Given the description of an element on the screen output the (x, y) to click on. 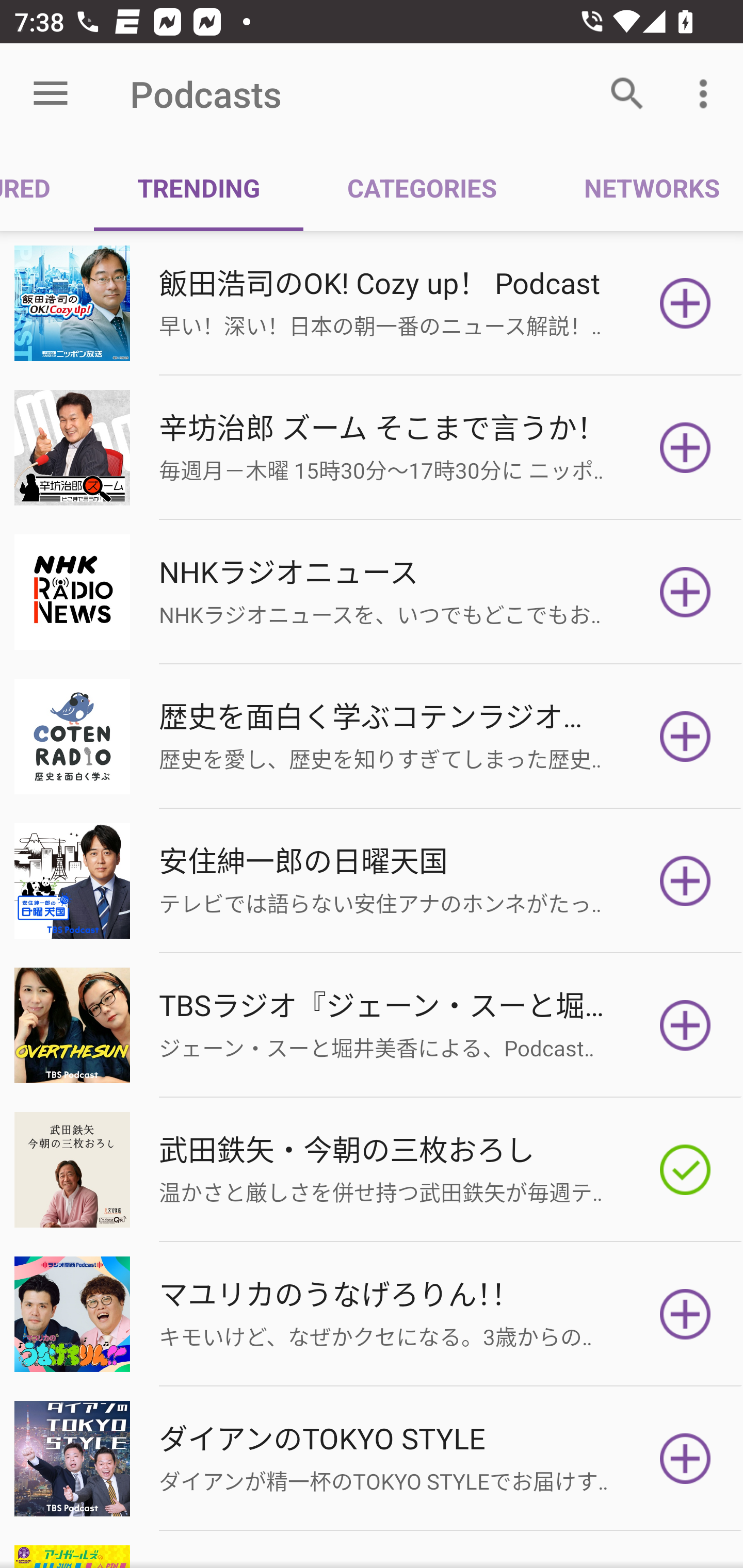
Open menu (50, 93)
Search (626, 93)
More options (706, 93)
TRENDING (198, 187)
CATEGORIES (421, 187)
NETWORKS (641, 187)
Subscribe (685, 303)
Subscribe (685, 447)
Subscribe (685, 591)
Subscribe (685, 736)
Subscribe (685, 881)
Subscribe (685, 1025)
Subscribed (685, 1169)
Subscribe (685, 1313)
Subscribe (685, 1458)
